Given the description of an element on the screen output the (x, y) to click on. 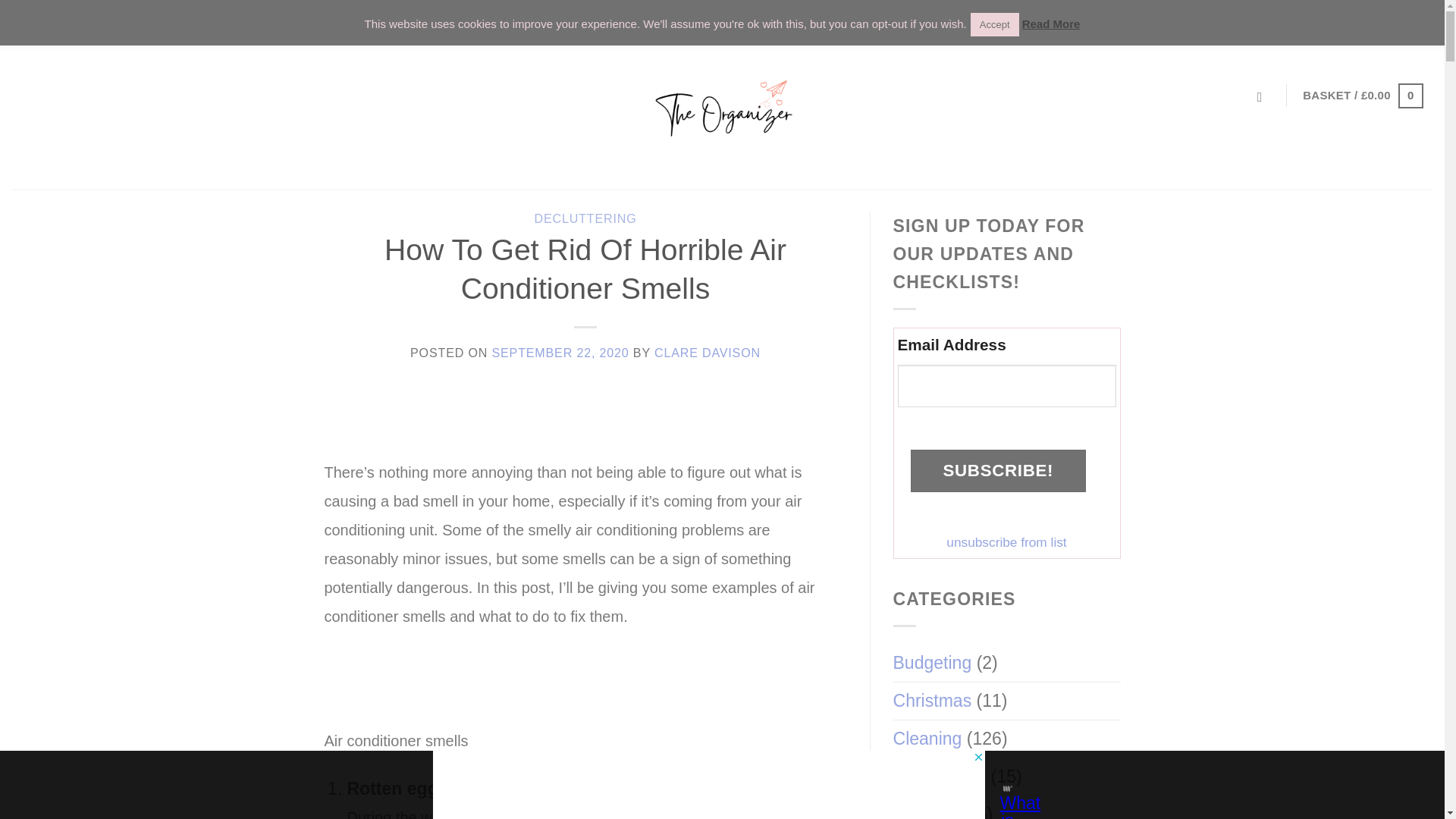
Subscribe! (997, 470)
PRIVACY POLICY (545, 21)
PRINTABLES SHOP (88, 21)
ABOUT ME (428, 21)
DECLUTTERING (585, 218)
NEWSLETTER (1363, 21)
Sign up for Newsletter (1363, 21)
Basket (1362, 95)
CLEANING (212, 21)
SEPTEMBER 22, 2020 (560, 352)
The Organizer (722, 115)
ORGANISING (320, 21)
CLARE DAVISON (706, 352)
